Given the description of an element on the screen output the (x, y) to click on. 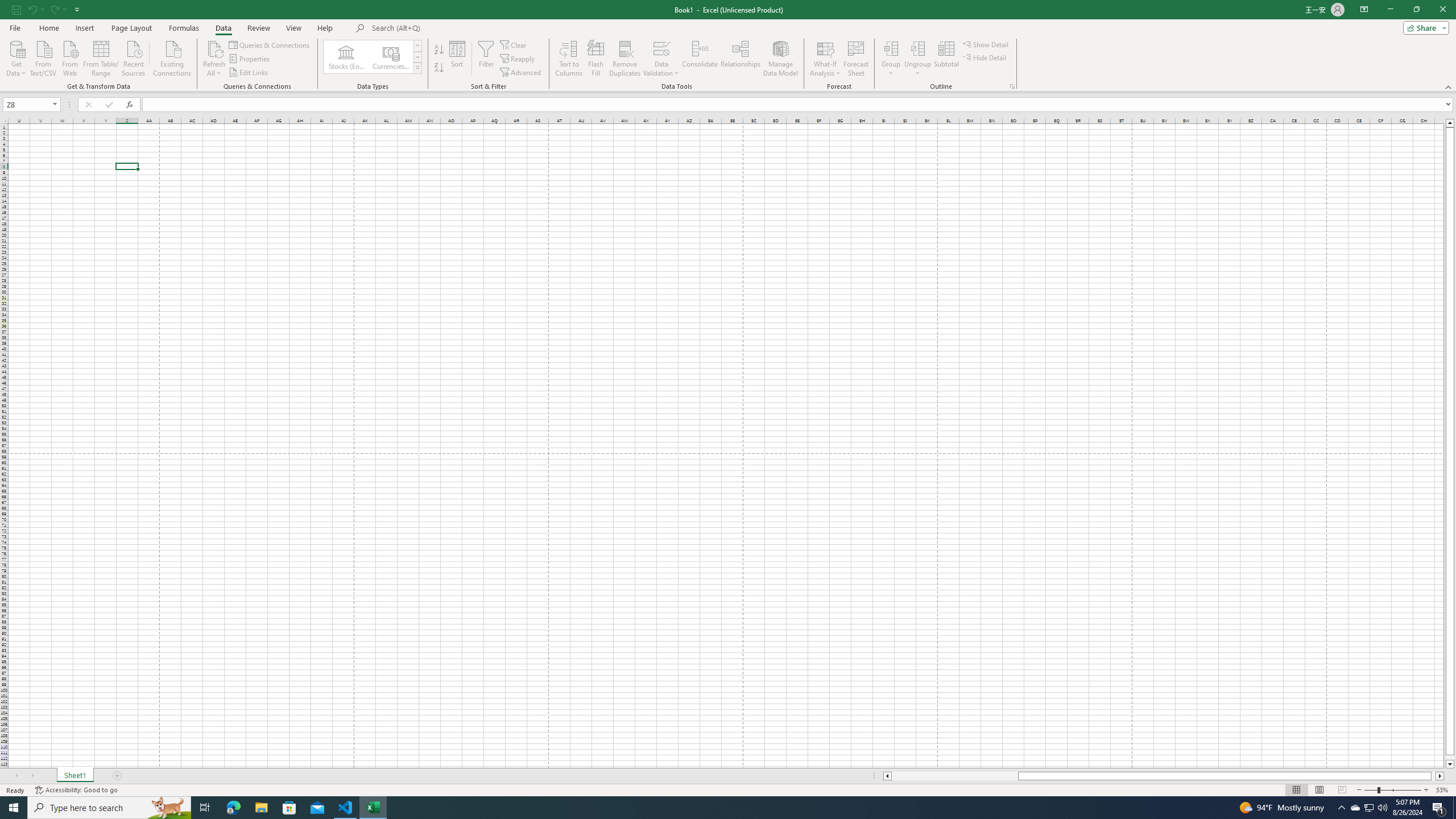
Column left (886, 775)
What-If Analysis (825, 58)
Clear (513, 44)
Ungroup... (917, 58)
Formula Bar (798, 104)
Page right (1433, 775)
From Text/CSV (43, 57)
Microsoft search (450, 28)
Line down (1449, 764)
Properties (250, 58)
Data (223, 28)
Group and Outline Settings (1011, 85)
Data Types (417, 67)
